Given the description of an element on the screen output the (x, y) to click on. 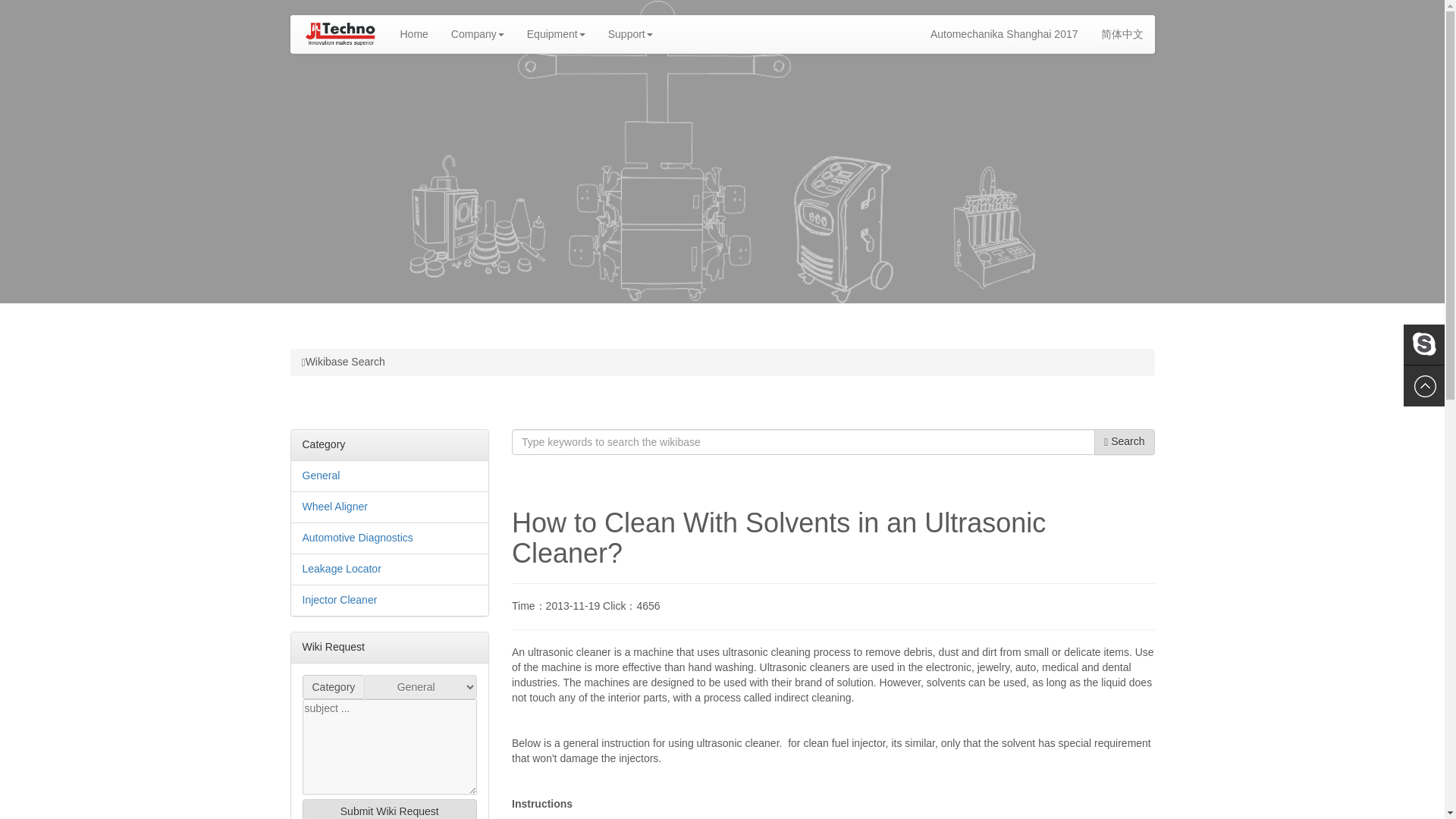
Search (1124, 442)
Company (477, 34)
Equipment (555, 34)
Automotive Diagnostics (356, 537)
Automechanika Shanghai 2017 (1003, 34)
Leakage Locator (340, 568)
Injector Cleaner (339, 599)
Support (629, 34)
General (320, 475)
Submit Wiki Request (389, 809)
